Given the description of an element on the screen output the (x, y) to click on. 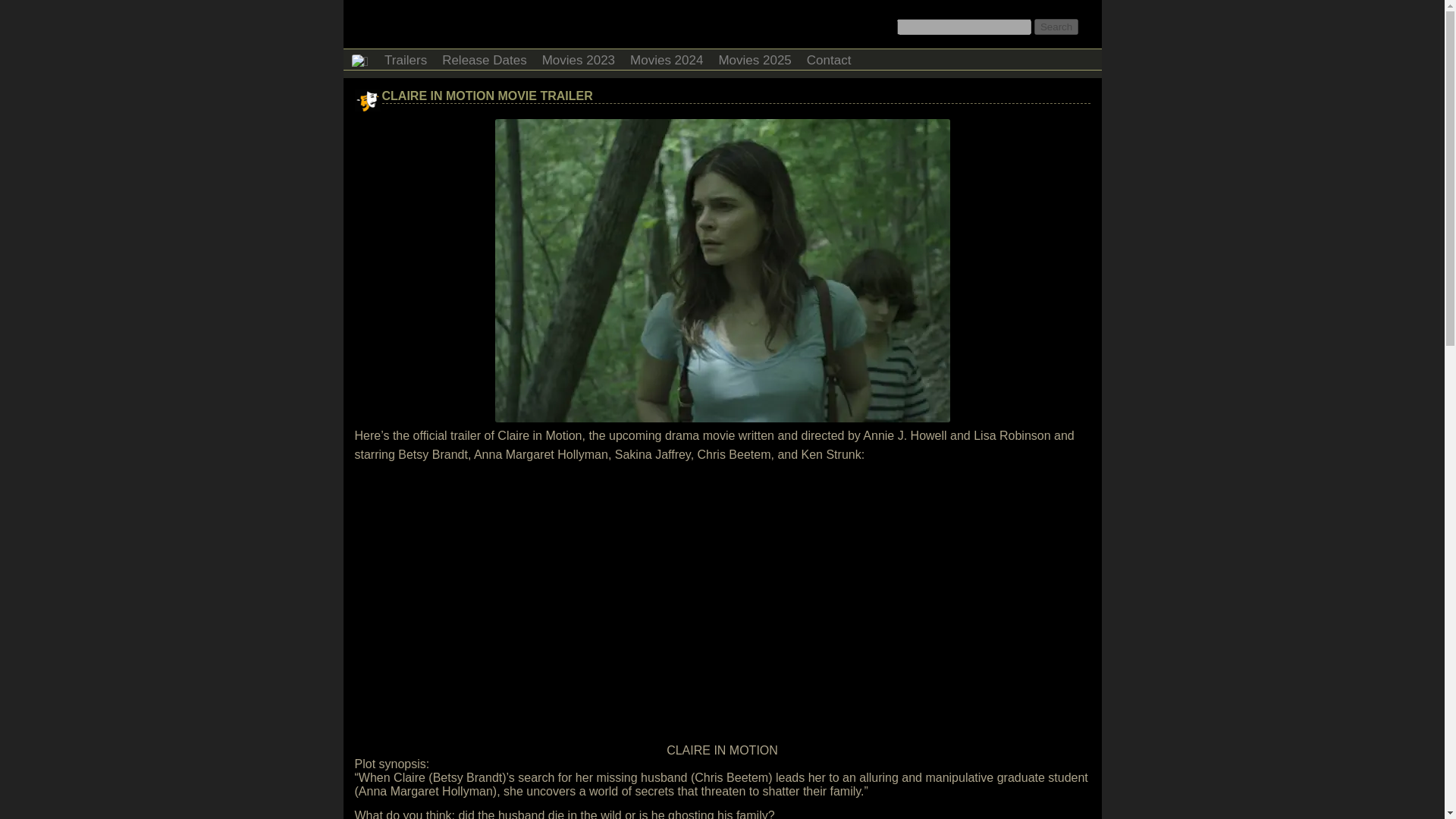
Search (1055, 26)
Release Dates (483, 58)
Contact (829, 58)
Search (1055, 26)
Home (359, 59)
Movies 2024 (666, 58)
Movies 2023 (578, 58)
Movies 2025 (753, 58)
Trailers (405, 58)
CLAIRE IN MOTION MOVIE TRAILER (486, 95)
